Given the description of an element on the screen output the (x, y) to click on. 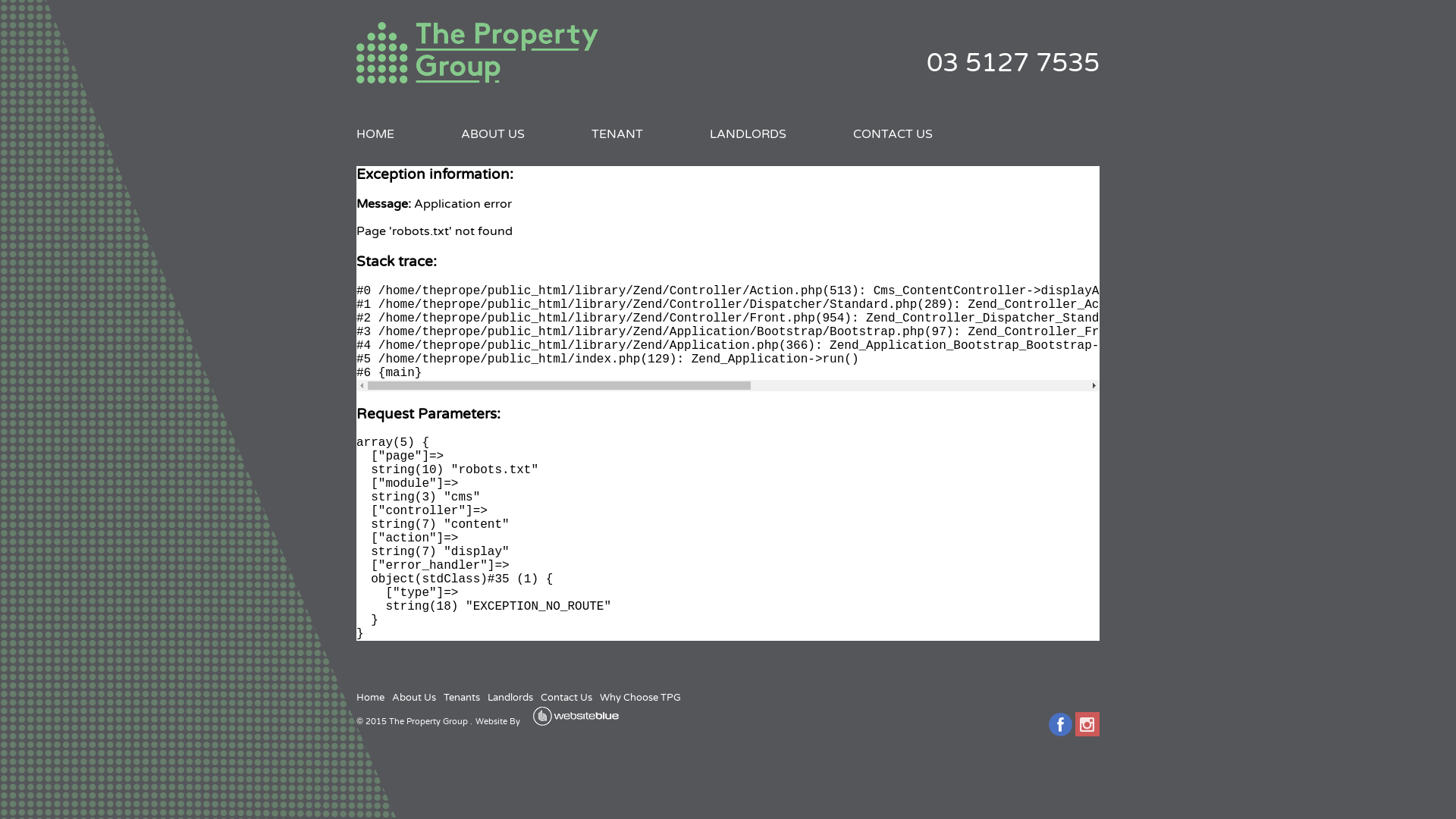
CONTACT US Element type: text (892, 133)
ABOUT US Element type: text (492, 133)
Contact Us Element type: text (566, 697)
HOME Element type: text (375, 133)
About Us Element type: text (414, 697)
Why Choose TPG Element type: text (639, 697)
Home Element type: text (370, 697)
LANDLORDS Element type: text (747, 133)
Landlords Element type: text (510, 697)
Tenants Element type: text (461, 697)
TENANT Element type: text (617, 133)
